Given the description of an element on the screen output the (x, y) to click on. 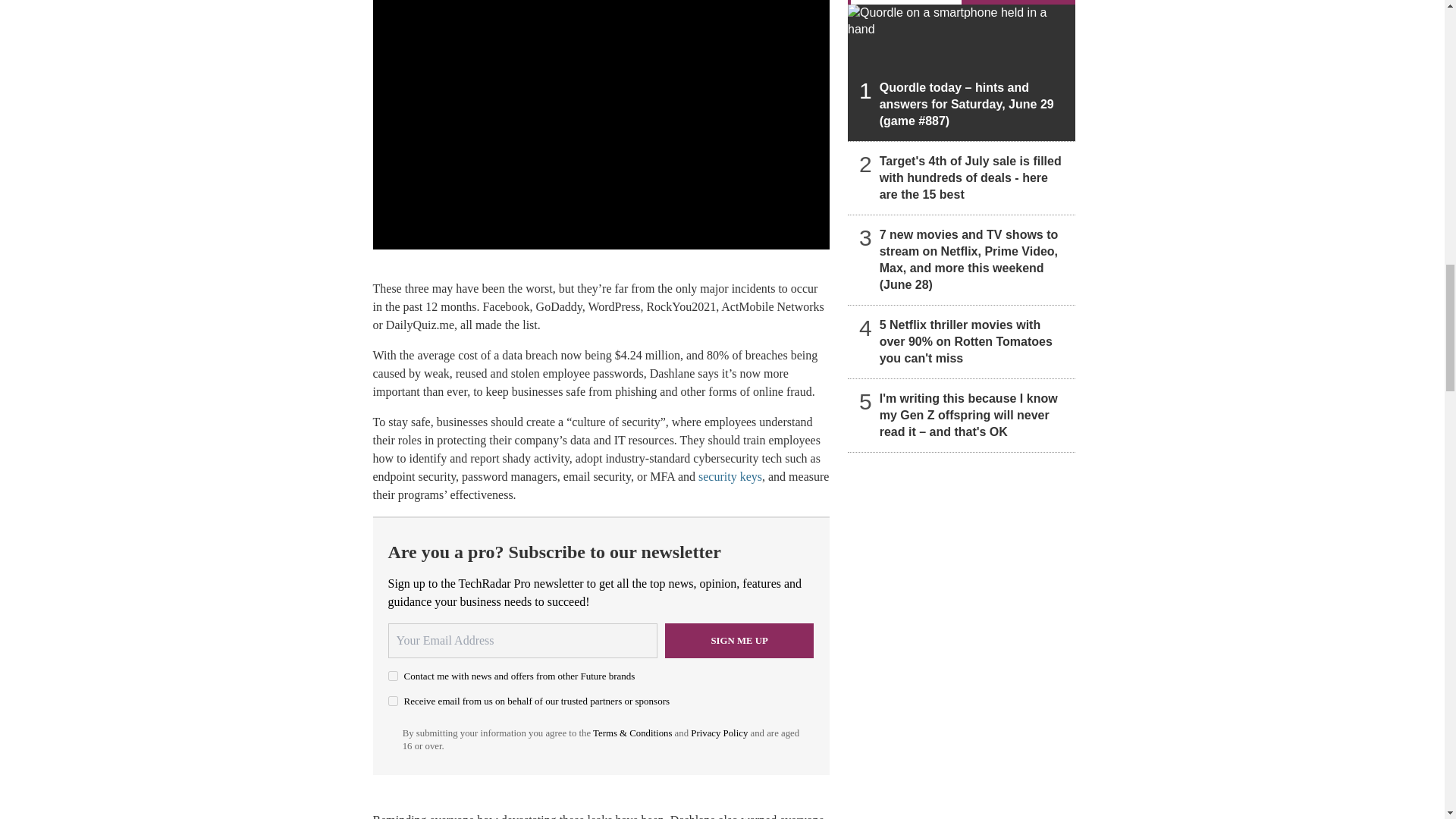
on (392, 700)
Sign me up (739, 640)
on (392, 675)
